Given the description of an element on the screen output the (x, y) to click on. 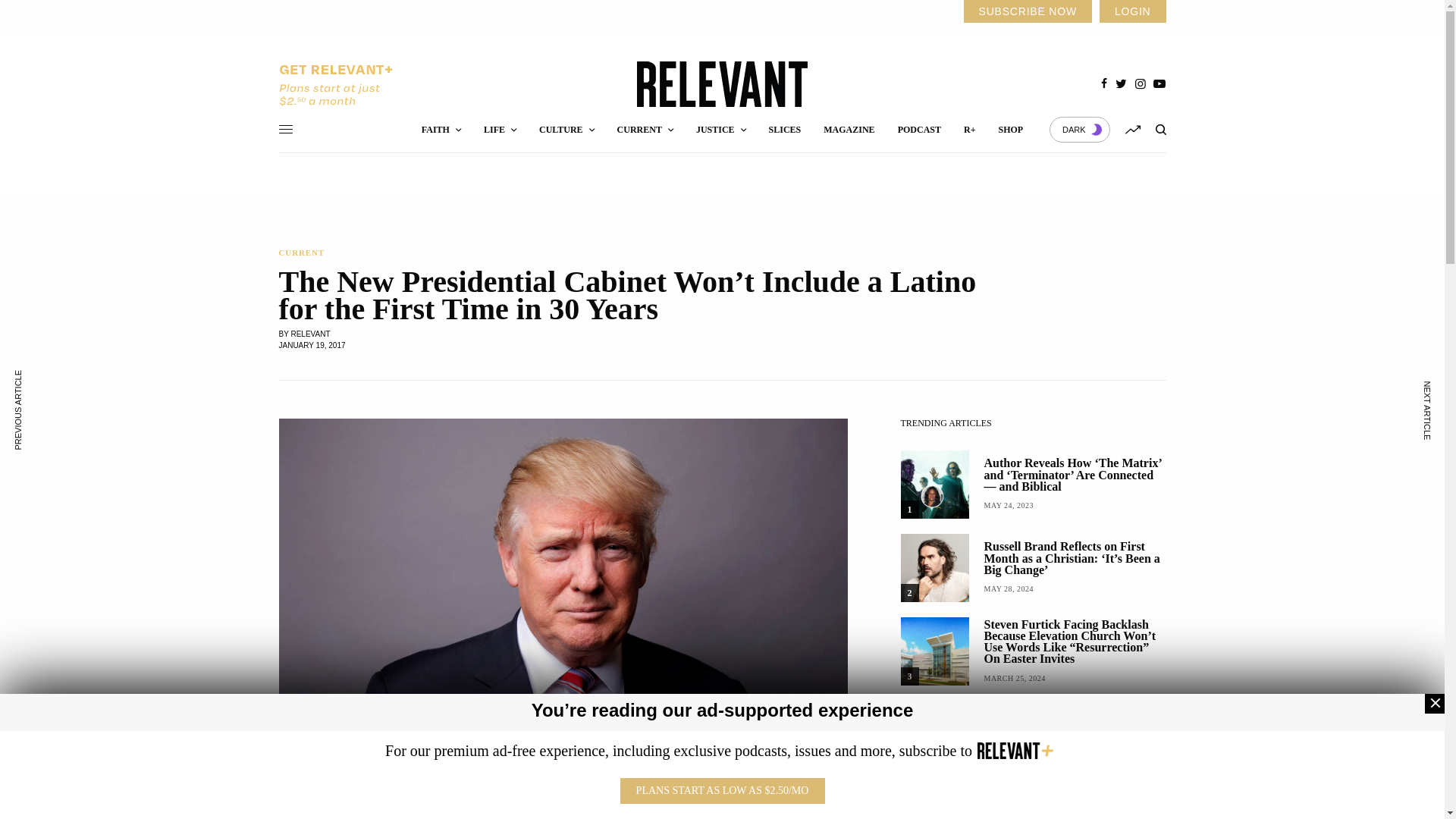
LOGIN (1132, 11)
RELEVANT (722, 84)
SUBSCRIBE NOW (1026, 11)
